Given the description of an element on the screen output the (x, y) to click on. 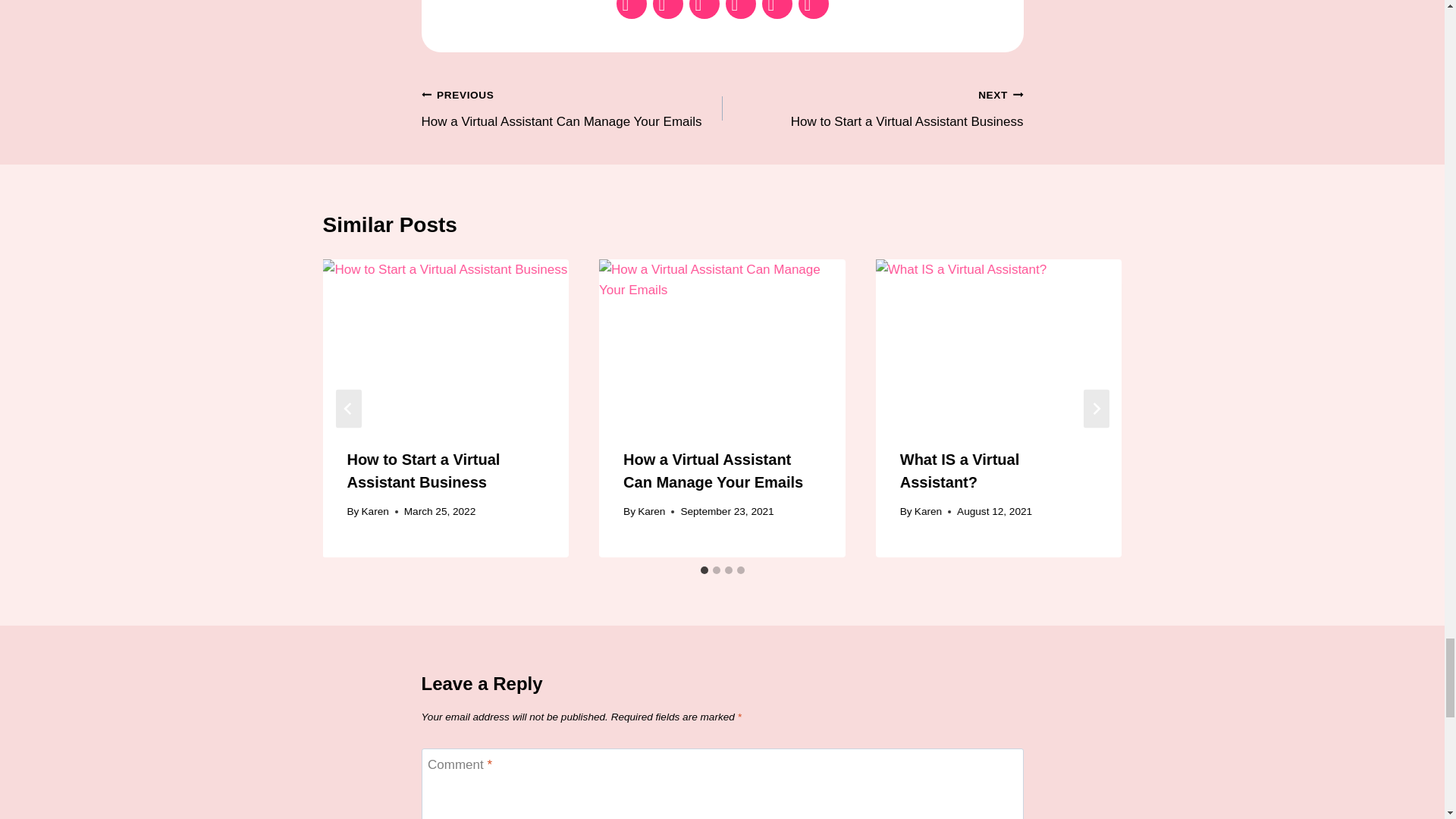
Facebook (630, 11)
WhatsApp (740, 11)
More Options (812, 11)
Pinterest (572, 107)
Email This (703, 11)
